Given the description of an element on the screen output the (x, y) to click on. 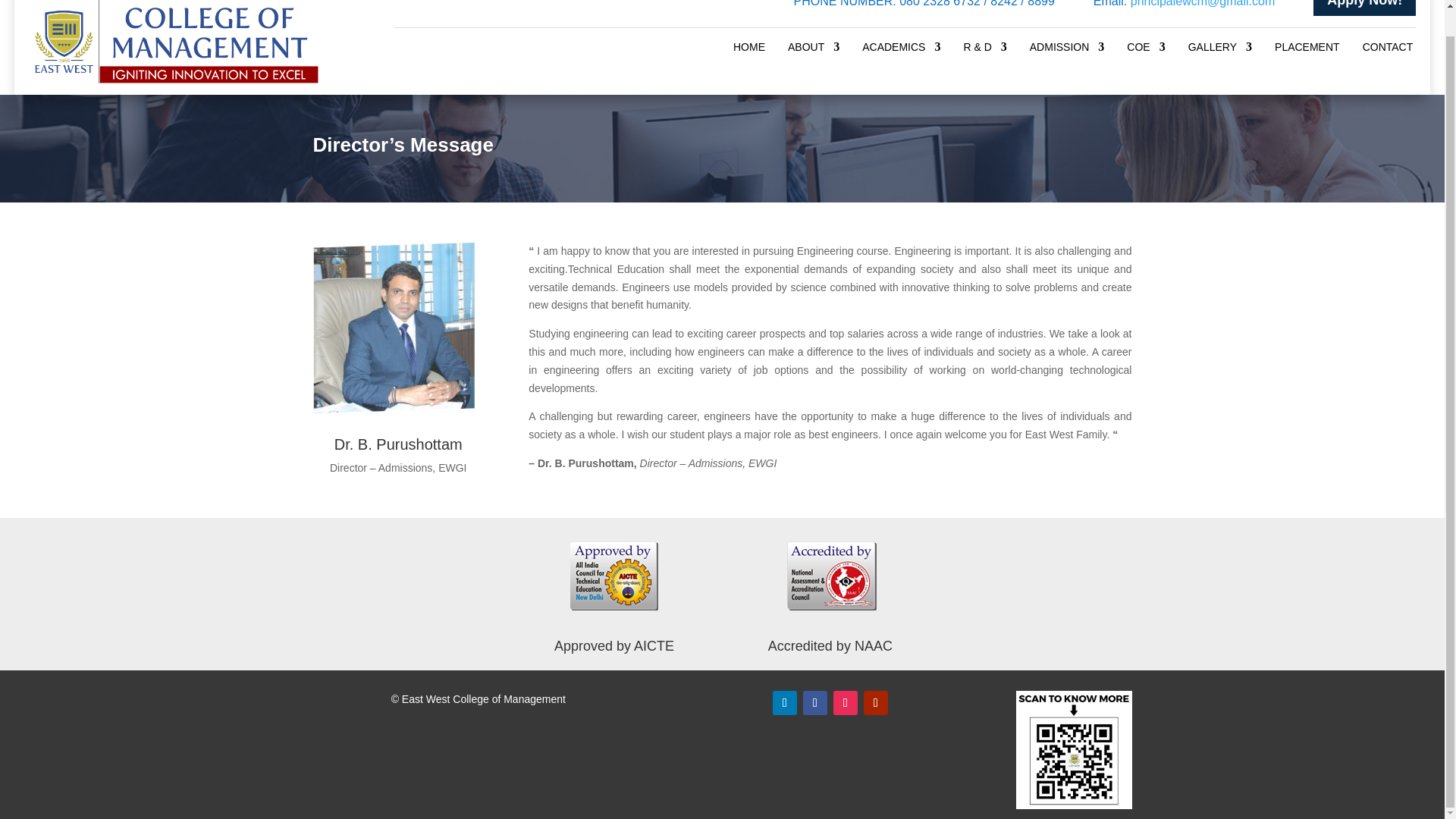
Apply Now! (1364, 7)
QR (1073, 750)
ACADEMICS (900, 49)
HOME (749, 49)
Follow on LinkedIn (784, 702)
Follow on Youtube (875, 702)
PLACEMENT (1307, 49)
4 (393, 328)
CONTACT (1387, 49)
GALLERY (1220, 49)
COE (1145, 49)
ABOUT (813, 49)
Follow on Facebook (815, 702)
Follow on Instagram (844, 702)
ewcm-logo (173, 41)
